Given the description of an element on the screen output the (x, y) to click on. 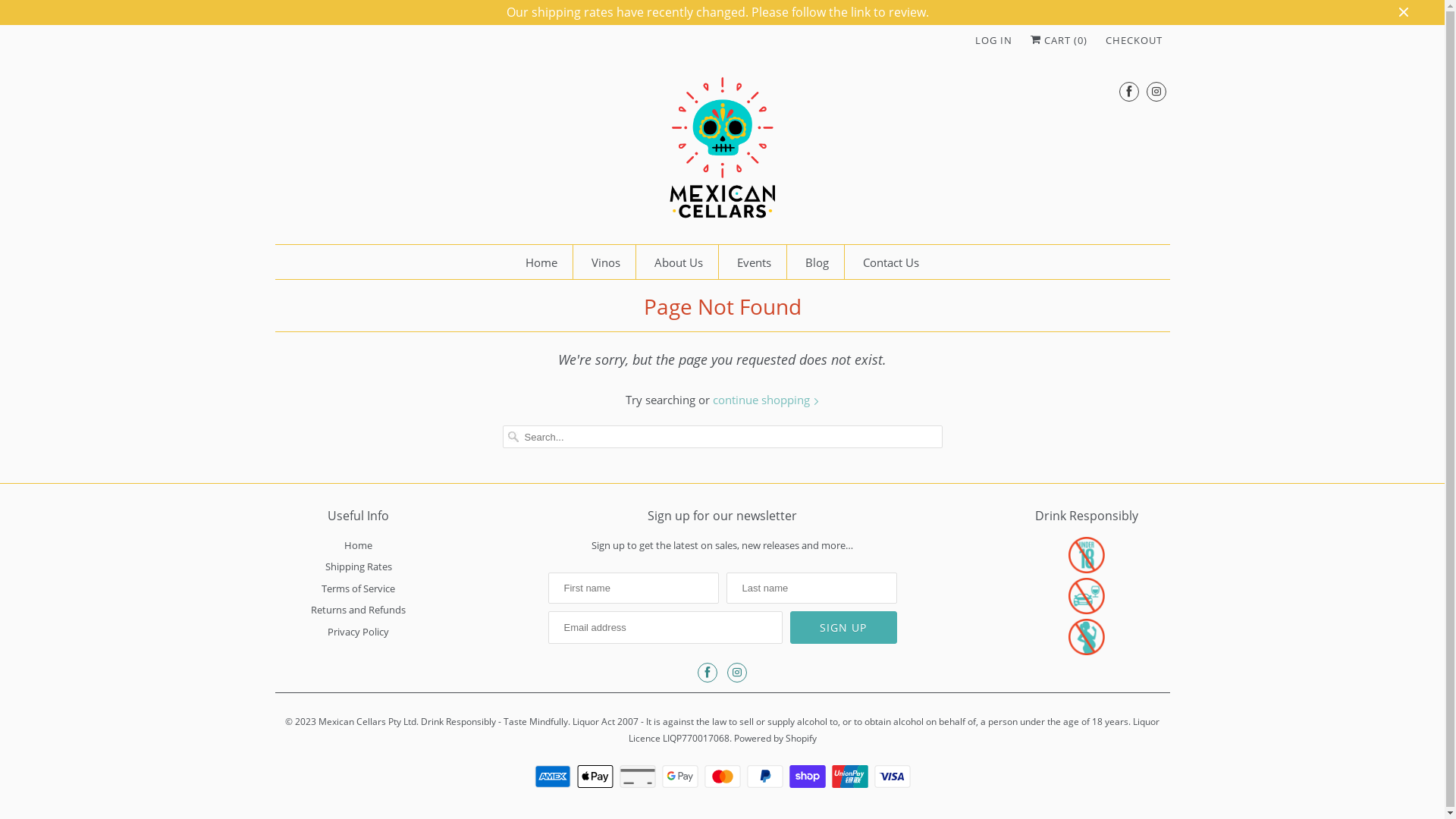
Mexican Cellars Pty Ltd on Facebook Element type: hover (1129, 91)
Home Element type: text (541, 262)
Blog Element type: text (816, 262)
Mexican Cellars Pty Ltd on Instagram Element type: hover (736, 672)
Terms of Service Element type: text (358, 588)
Sign Up Element type: text (843, 627)
Mexican Cellars Pty Ltd Element type: text (367, 717)
Mexican Cellars Pty Ltd on Instagram Element type: hover (1156, 91)
CART (0) Element type: text (1057, 39)
Powered by Shopify Element type: text (775, 733)
Home Element type: text (358, 545)
continue shopping Element type: text (765, 399)
About Us Element type: text (678, 262)
Vinos Element type: text (605, 262)
Returns and Refunds Element type: text (357, 609)
Contact Us Element type: text (890, 262)
Mexican Cellars Pty Ltd on Facebook Element type: hover (707, 672)
Events Element type: text (754, 262)
CHECKOUT Element type: text (1133, 39)
LOG IN Element type: text (993, 39)
Shipping Rates Element type: text (357, 566)
Privacy Policy Element type: text (358, 631)
Mexican Cellars Pty Ltd Element type: hover (721, 151)
